Given the description of an element on the screen output the (x, y) to click on. 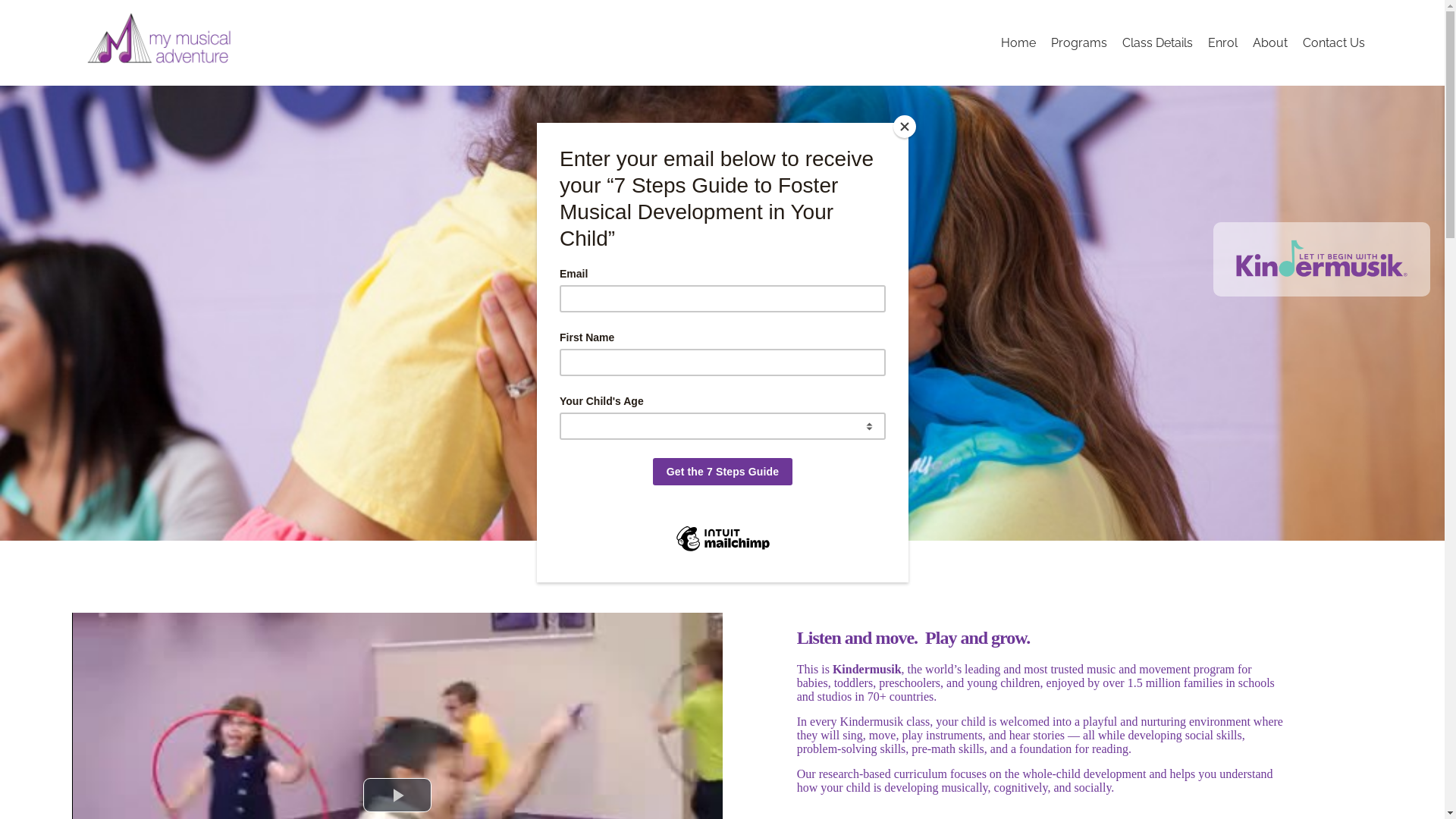
About Element type: text (1269, 42)
Class Details Element type: text (1157, 42)
Play Video Element type: text (397, 795)
Home Element type: text (1018, 42)
Contact Us Element type: text (1333, 42)
Programs Element type: text (1079, 42)
Enrol Element type: text (1222, 42)
